Given the description of an element on the screen output the (x, y) to click on. 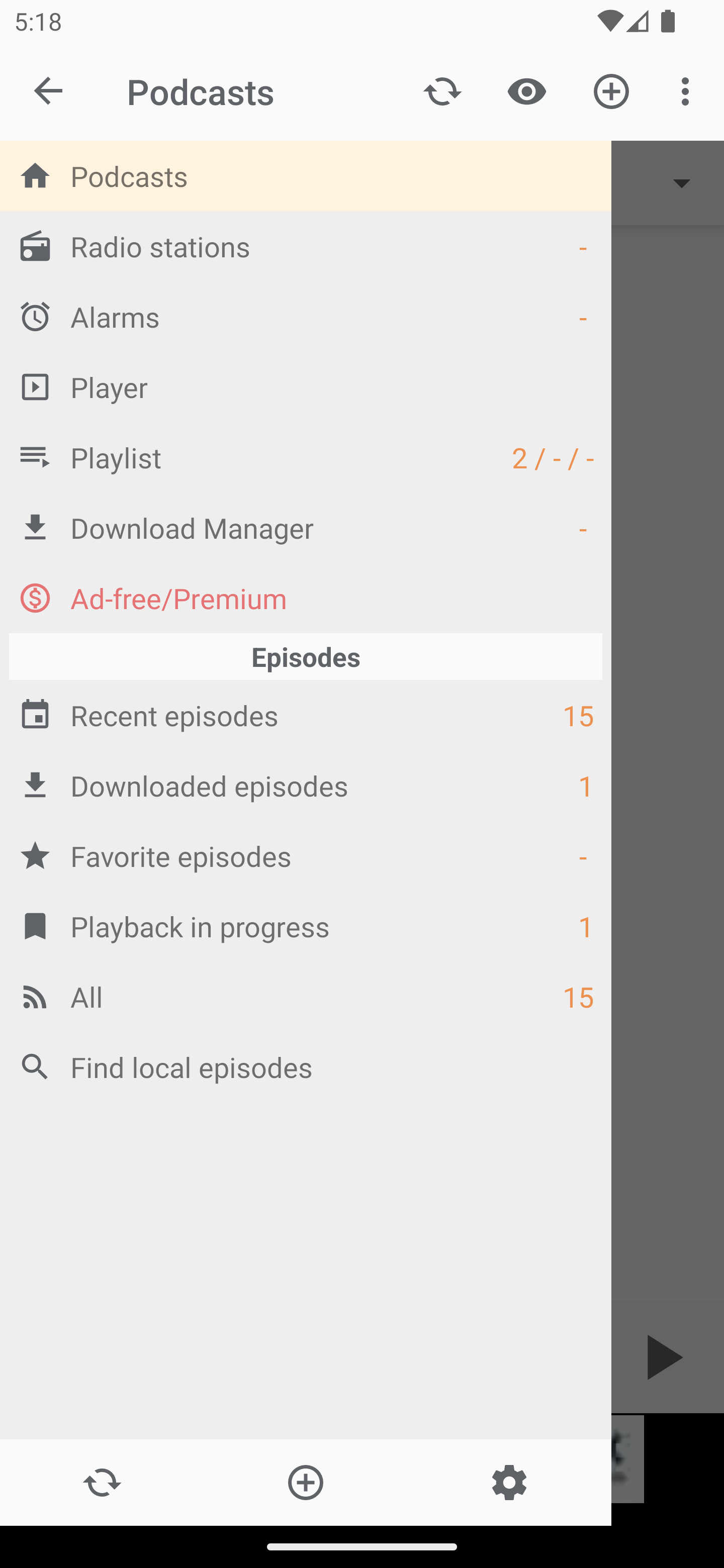
Close navigation sidebar (49, 91)
Update (442, 90)
Show / Hide played content (526, 90)
Add new Podcast (611, 90)
More options (688, 90)
Podcasts (305, 176)
Radio stations  -  (305, 245)
Alarms  -  (305, 315)
Player (305, 386)
Playlist 2 / - / - (305, 456)
Download Manager  -  (305, 527)
Ad-free/Premium (305, 597)
Recent episodes 15 (305, 715)
Downloaded episodes 1 (305, 785)
Favorite episodes  -  (305, 855)
Playback in progress 1 (305, 925)
All 15 (305, 996)
Find local episodes (305, 1066)
Update (101, 1482)
Add new Podcast (304, 1482)
Settings (508, 1482)
